Given the description of an element on the screen output the (x, y) to click on. 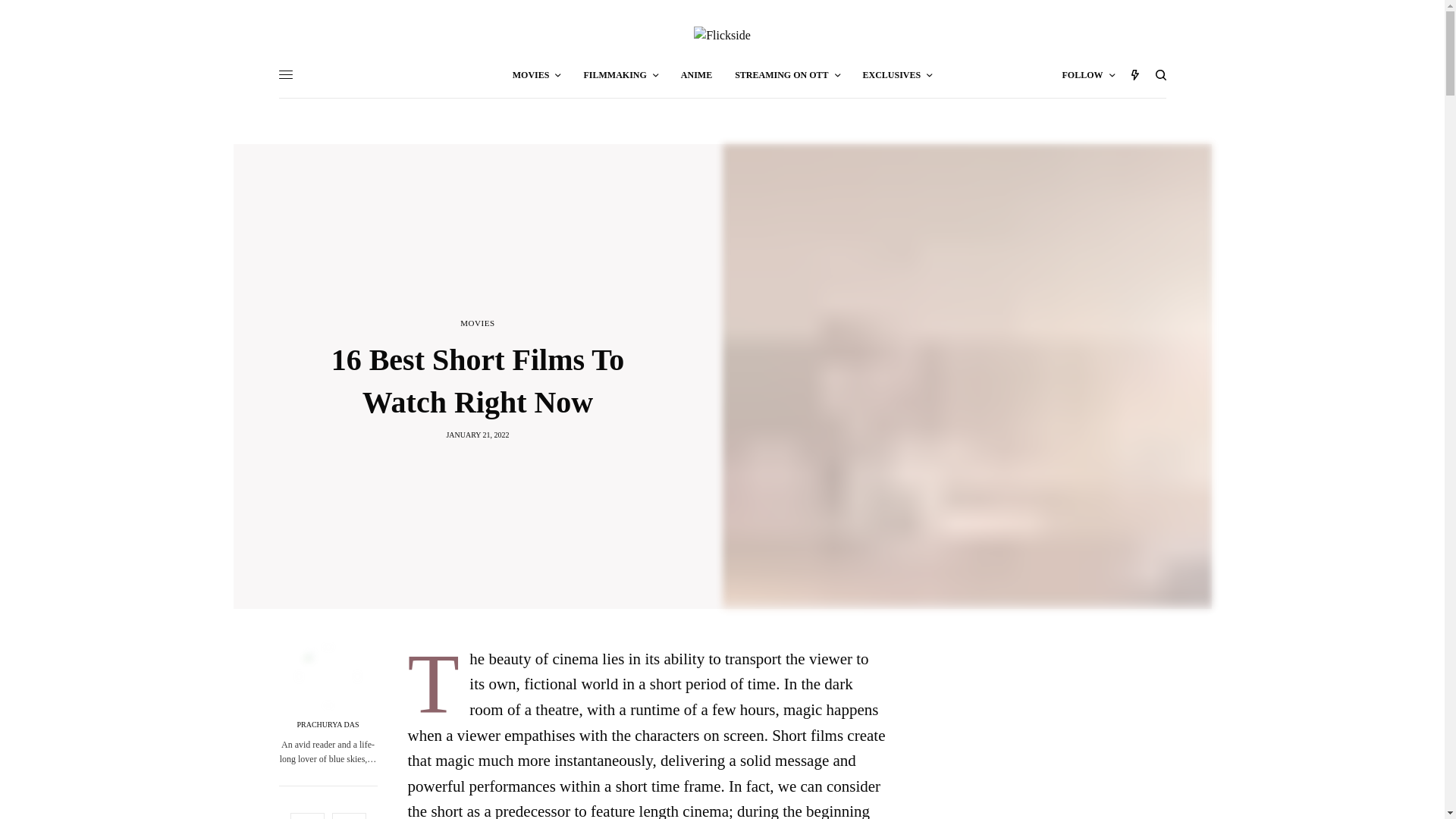
Flickside (722, 35)
STREAMING ON OTT (787, 74)
FILMMAKING (620, 74)
EXCLUSIVES (898, 74)
MOVIES (536, 74)
FOLLOW (1087, 74)
